Given the description of an element on the screen output the (x, y) to click on. 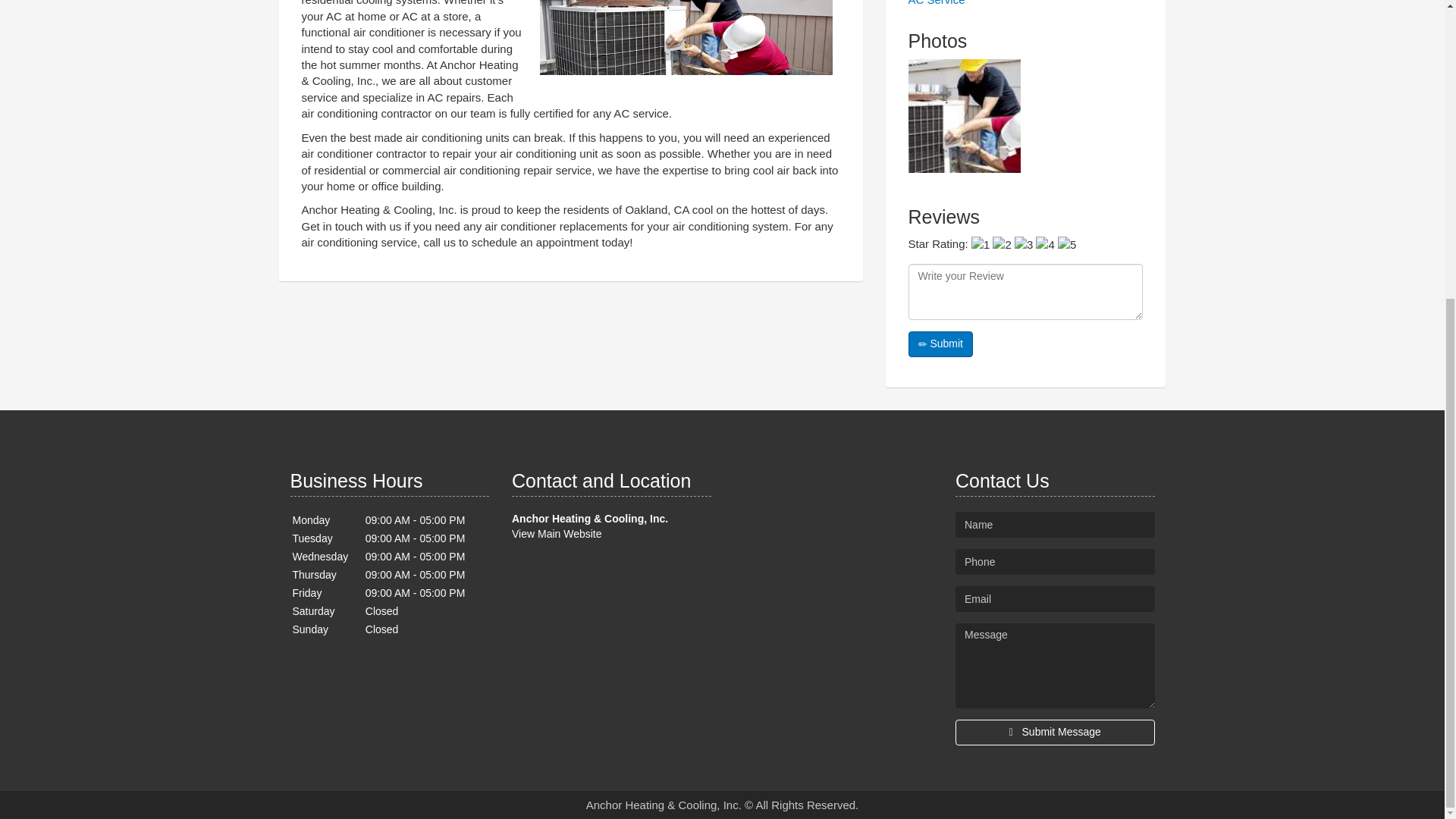
bad (980, 244)
Portable Air Conditioning Unit (686, 41)
click to enlarge image (964, 115)
regular (1023, 244)
  Submit Message (1054, 732)
poor (1001, 244)
gorgeous (1066, 244)
good (1044, 244)
Submit (940, 344)
AC Service (936, 2)
